Given the description of an element on the screen output the (x, y) to click on. 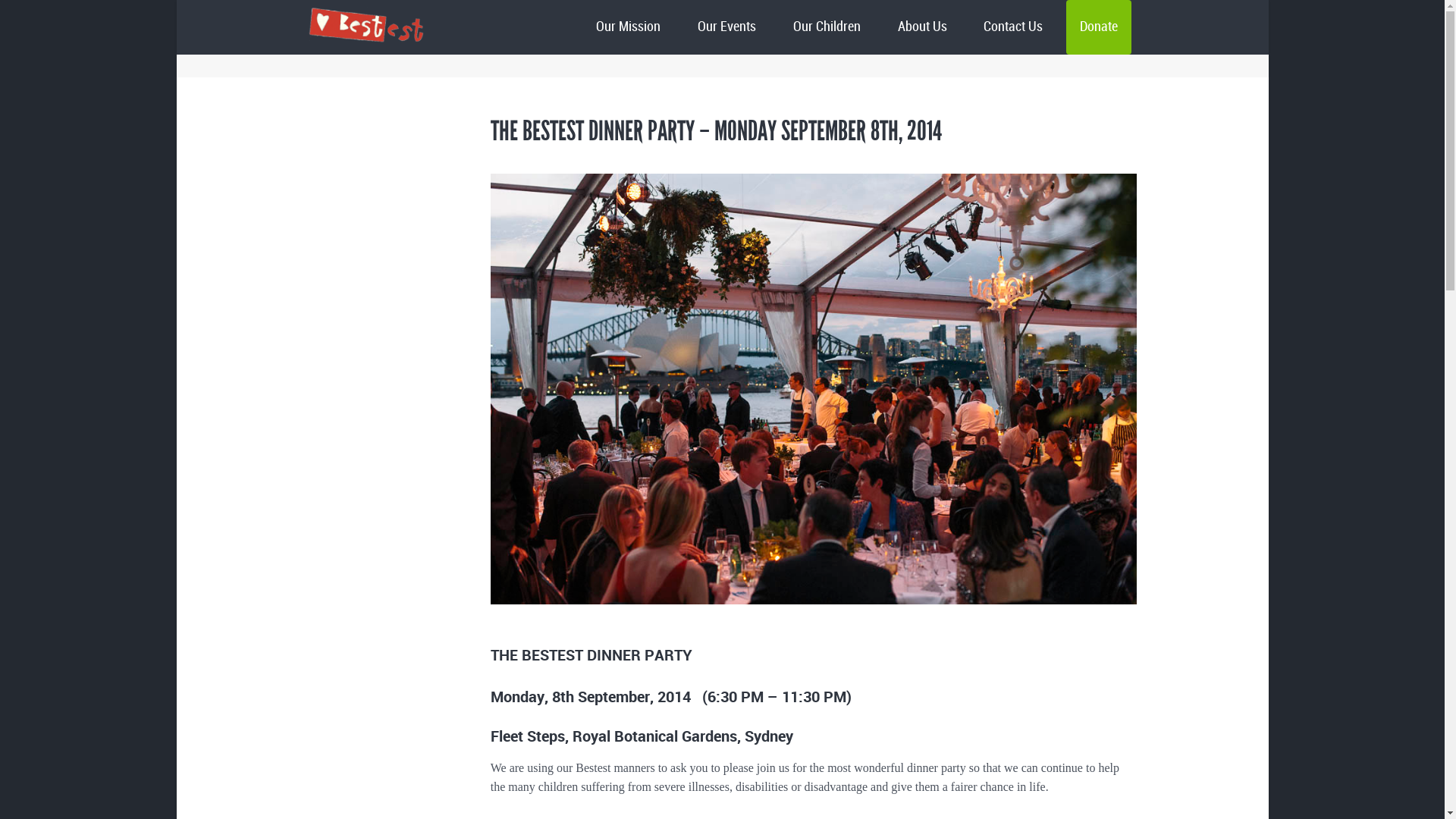
Our Events Element type: text (726, 27)
Our Mission Element type: text (628, 27)
Our Children Element type: text (826, 27)
About Us Element type: text (922, 27)
Contact Us Element type: text (1012, 27)
Donate Element type: text (1098, 27)
